Given the description of an element on the screen output the (x, y) to click on. 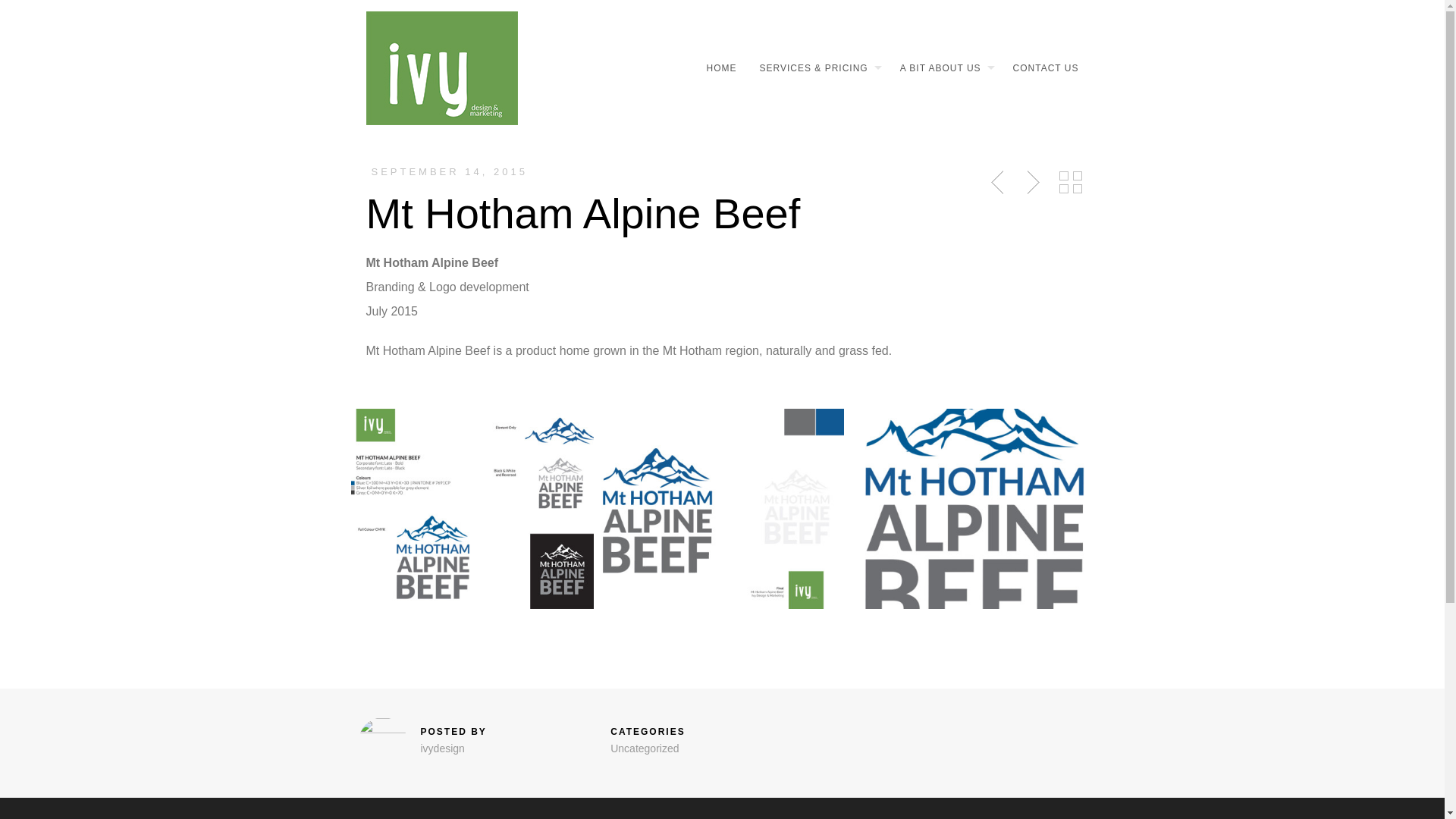
Back to Posts Element type: text (1069, 182)
HOME Element type: text (715, 68)
MtHAB-3 Element type: hover (721, 508)
Previous Post Element type: text (998, 182)
MtHAB-1 Element type: hover (971, 508)
Uncategorized Element type: text (644, 748)
SERVICES & PRICING Element type: text (811, 68)
MtHAB-2 Element type: hover (471, 508)
Next Post Element type: text (1030, 182)
ivydesign Element type: text (442, 748)
A BIT ABOUT US Element type: text (939, 68)
CONTACT US Element type: text (1040, 68)
